Given the description of an element on the screen output the (x, y) to click on. 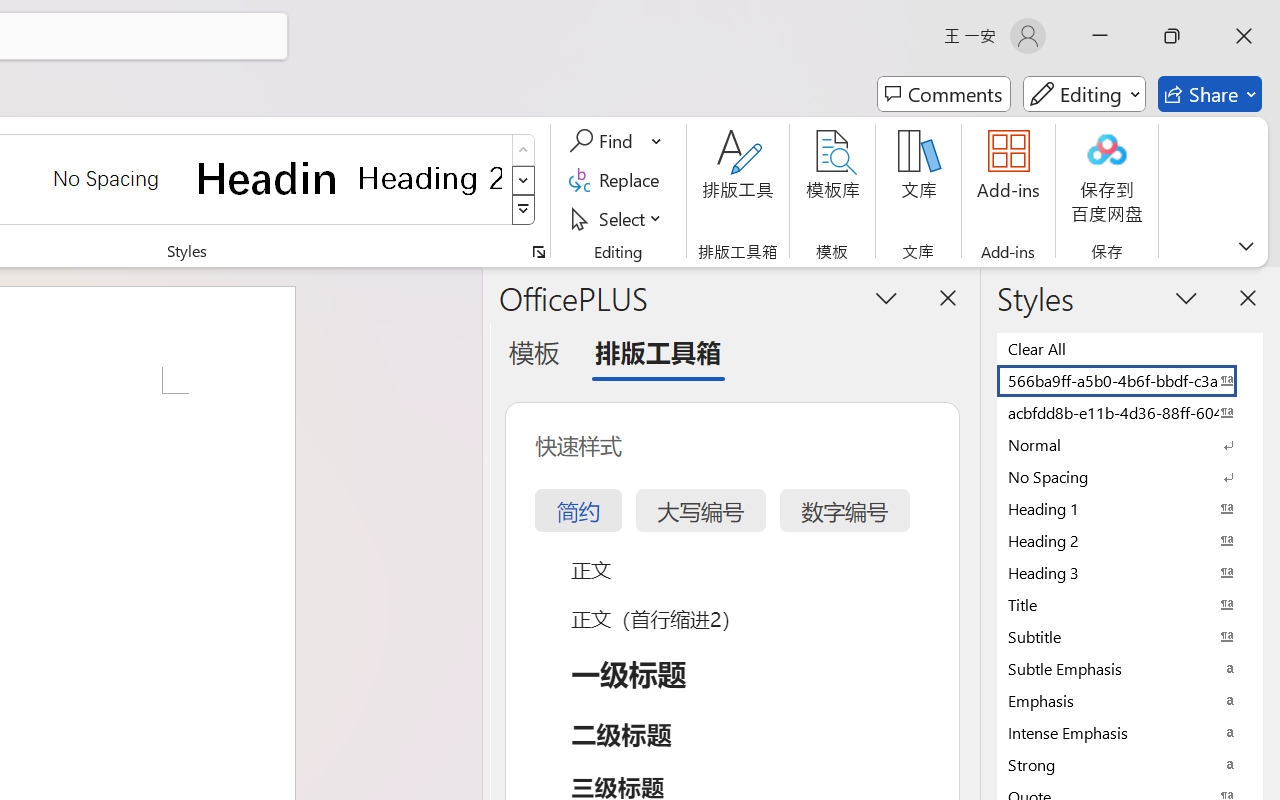
Styles (523, 209)
Find (604, 141)
Restore Down (1172, 36)
Strong (1130, 764)
Heading 3 (1130, 572)
Class: NetUIImage (523, 210)
Close (1244, 36)
Row Down (523, 180)
No Spacing (1130, 476)
